Given the description of an element on the screen output the (x, y) to click on. 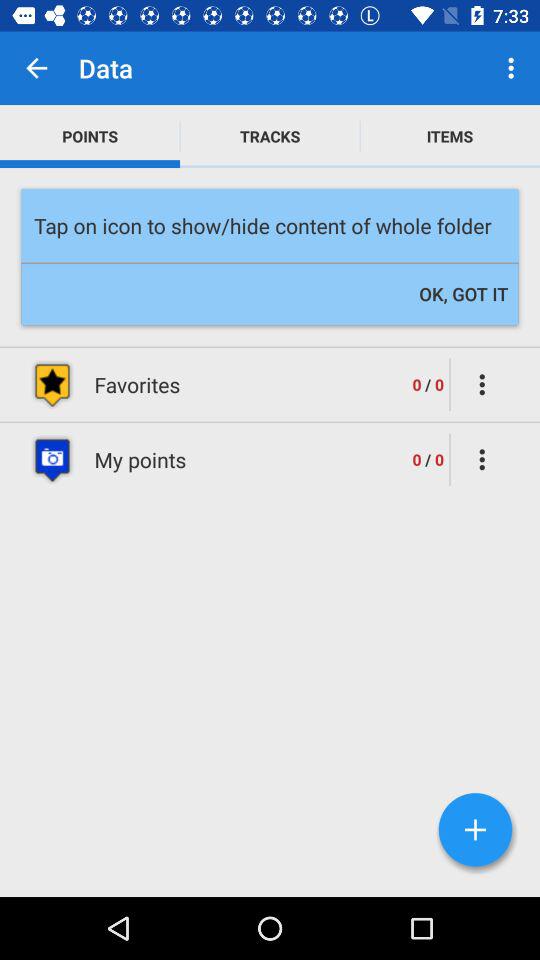
choose item next to tracks (450, 136)
